Given the description of an element on the screen output the (x, y) to click on. 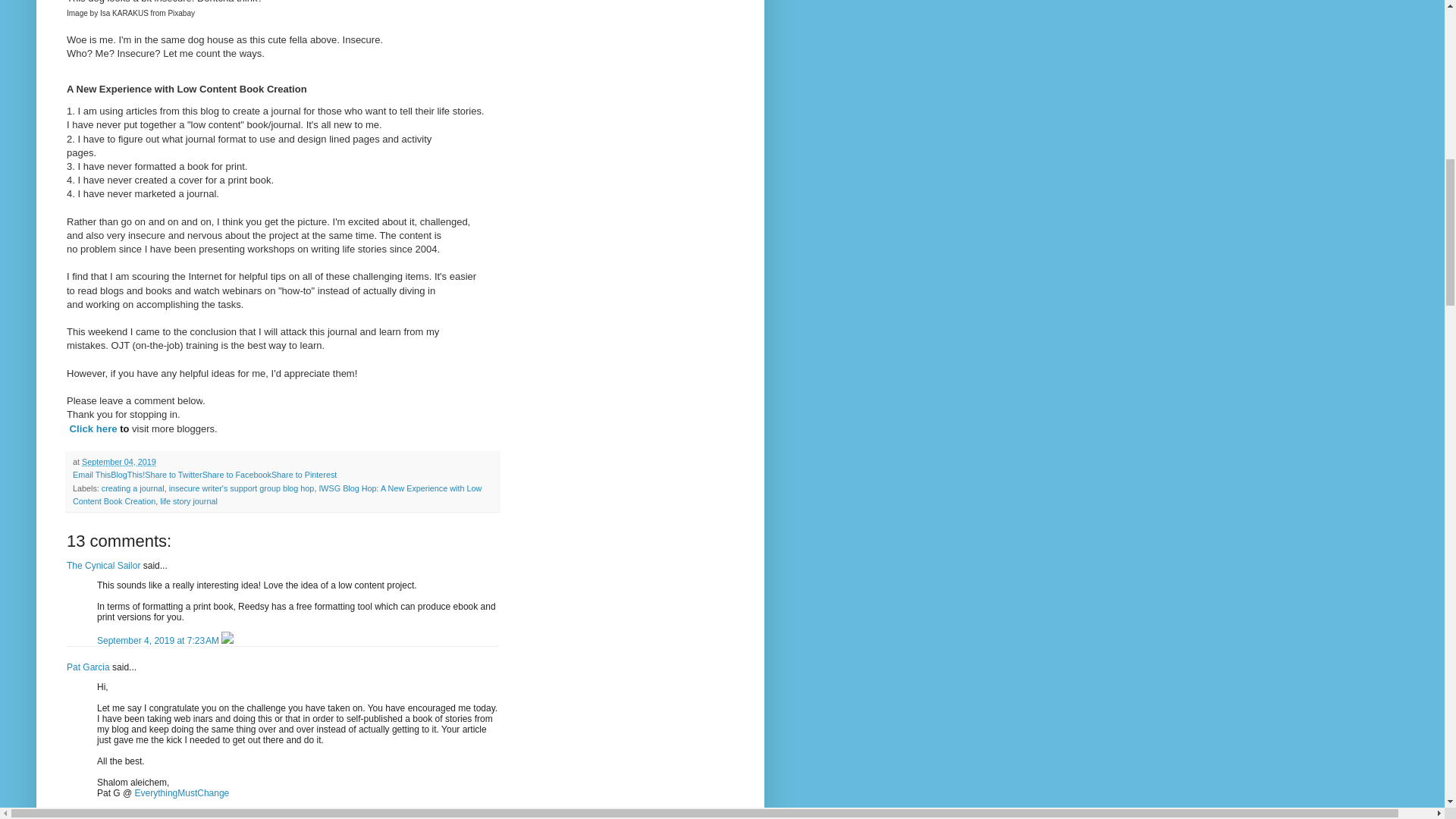
Share to Pinterest (303, 474)
permanent link (118, 461)
life story journal (188, 501)
Share to Twitter (173, 474)
Email Post (164, 461)
creating a journal (132, 488)
Email This (91, 474)
BlogThis! (127, 474)
Pat Garcia (88, 666)
Share to Facebook (236, 474)
EverythingMustChange (182, 792)
The Cynical Sailor (102, 565)
September 04, 2019 (118, 461)
Isa KARAKUS (124, 13)
comment permalink (159, 815)
